Given the description of an element on the screen output the (x, y) to click on. 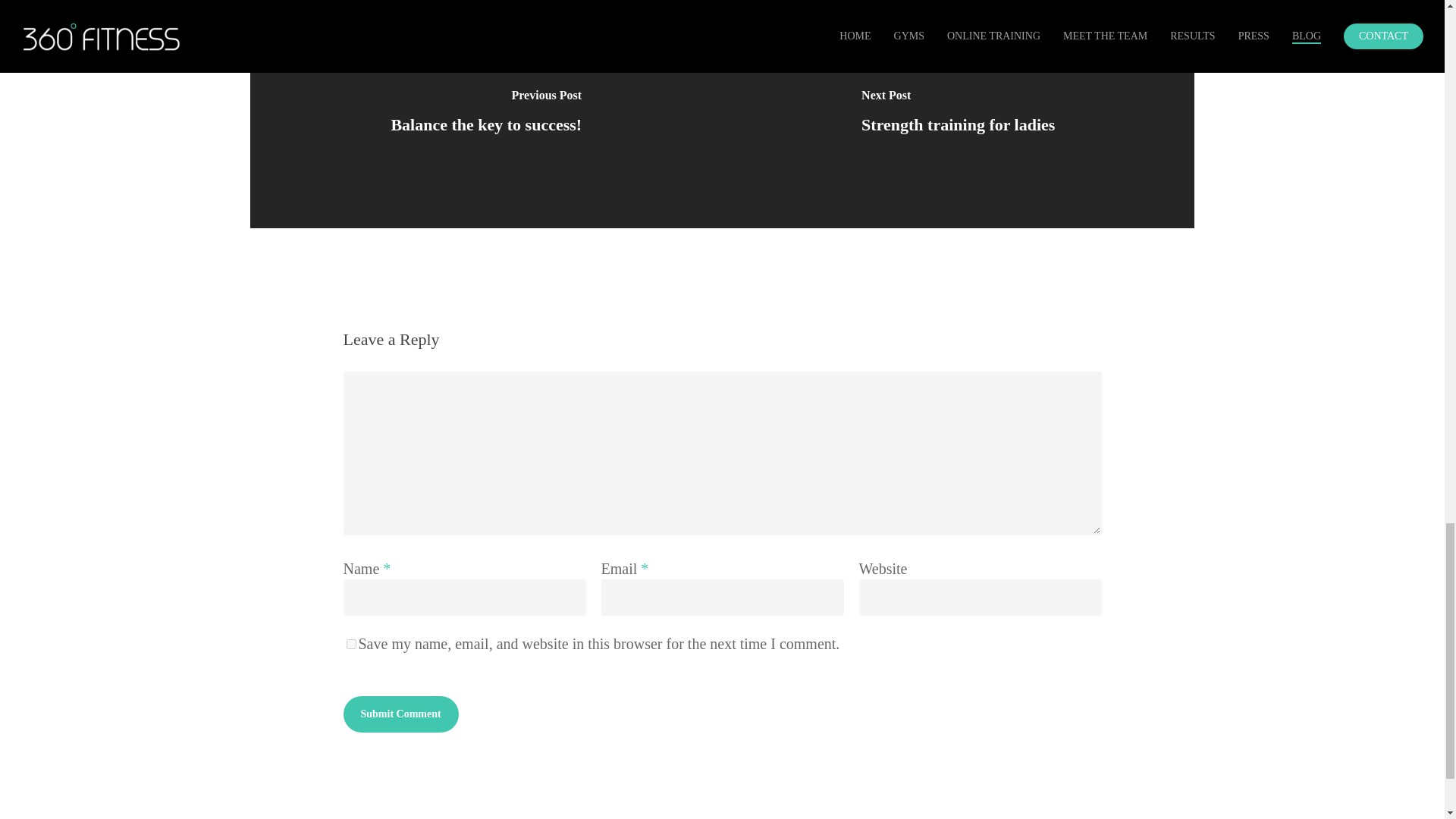
yes (350, 644)
Submit Comment (400, 714)
Submit Comment (400, 714)
